Given the description of an element on the screen output the (x, y) to click on. 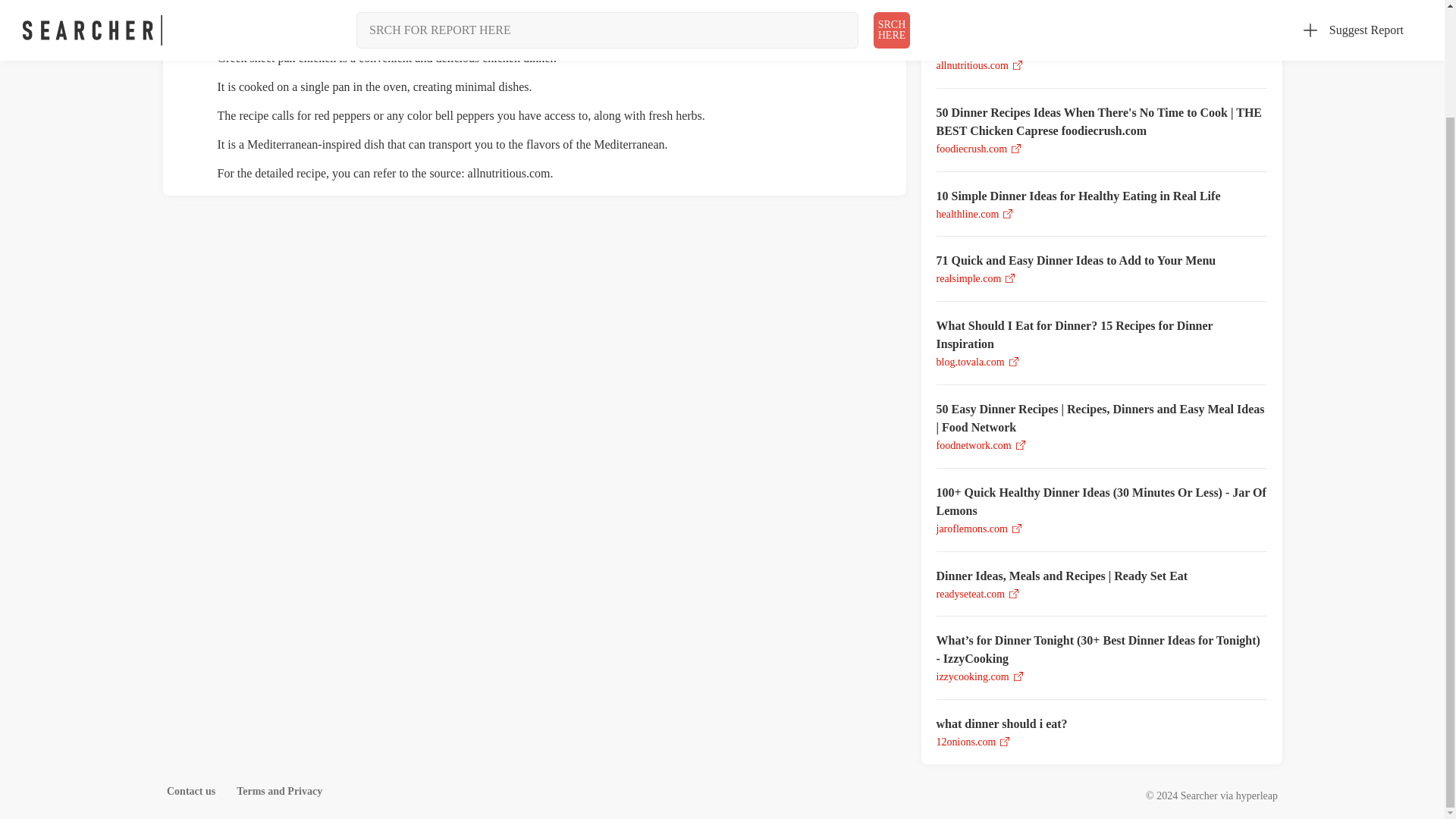
10 Simple Dinner Ideas for Healthy Eating in Real Life (1101, 196)
allnutritious.com (971, 65)
71 Quick and Easy Dinner Ideas to Add to Your Menu (1101, 260)
foodiecrush.com (971, 148)
realsimple.com (968, 278)
healthline.com (967, 214)
foodnetwork.com (973, 445)
blog.tovala.com (970, 361)
jaroflemons.com (971, 528)
